Given the description of an element on the screen output the (x, y) to click on. 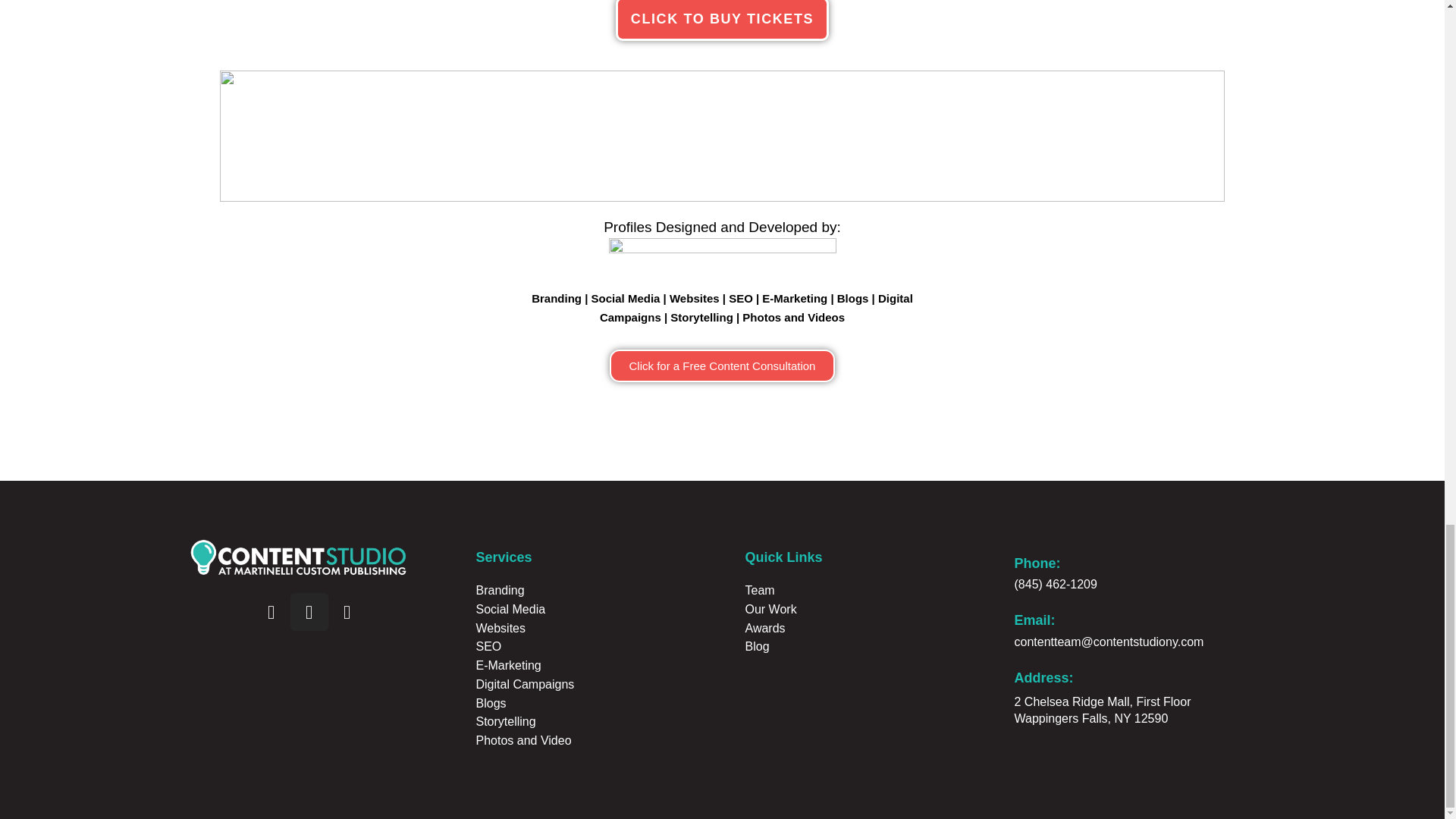
CLICK TO BUY TICKETS (721, 20)
Photos and Videos (793, 317)
Blogs (853, 297)
E-Marketing (794, 297)
SEO (740, 297)
Websites (694, 297)
Digital Campaigns (755, 307)
Storytelling (701, 317)
Social Media (626, 297)
Click for a Free Content Consultation (722, 365)
